Given the description of an element on the screen output the (x, y) to click on. 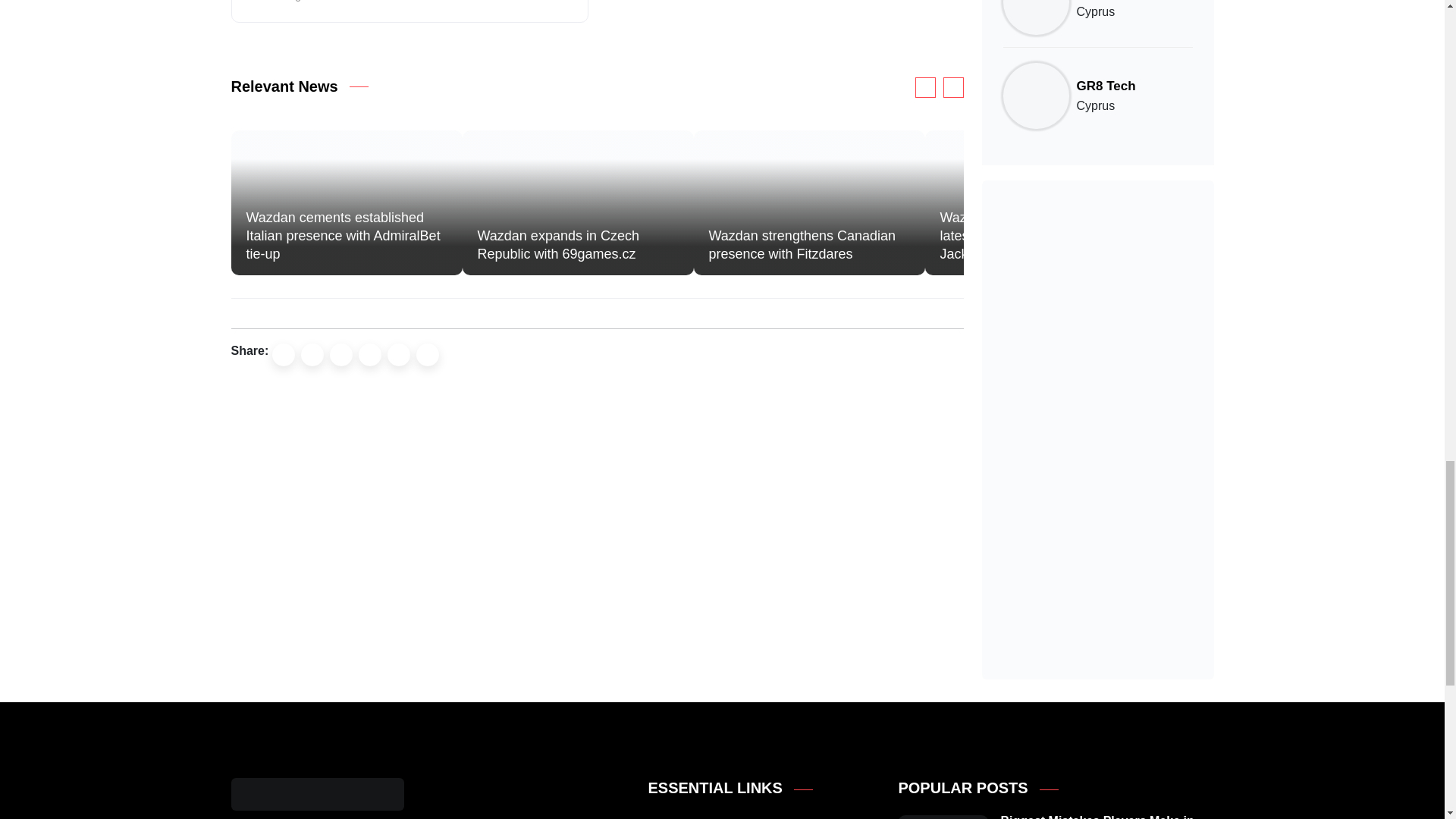
Relevant News (283, 86)
